Given the description of an element on the screen output the (x, y) to click on. 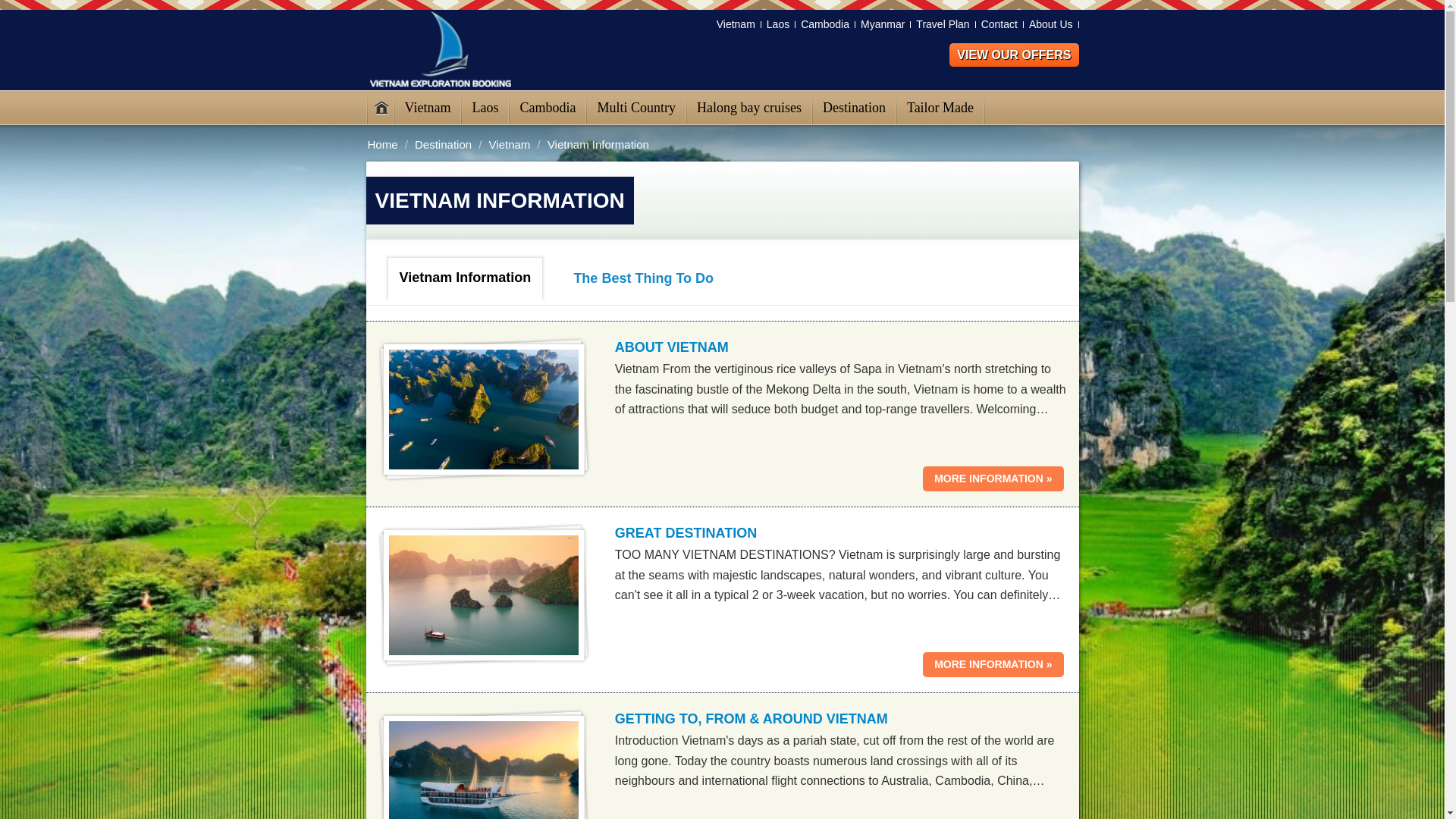
Cambodia (547, 107)
About Us (1050, 24)
Vietnam (736, 24)
About Us (1050, 24)
Laos (777, 24)
Vietnam (736, 24)
Travel Plan (943, 24)
Laos (777, 24)
Cambodia (825, 24)
Cambodia (825, 24)
Contact (999, 24)
Vietnam (427, 107)
VIEW OUR OFFERS (1013, 54)
Myanmar (883, 24)
Laos (484, 107)
